Given the description of an element on the screen output the (x, y) to click on. 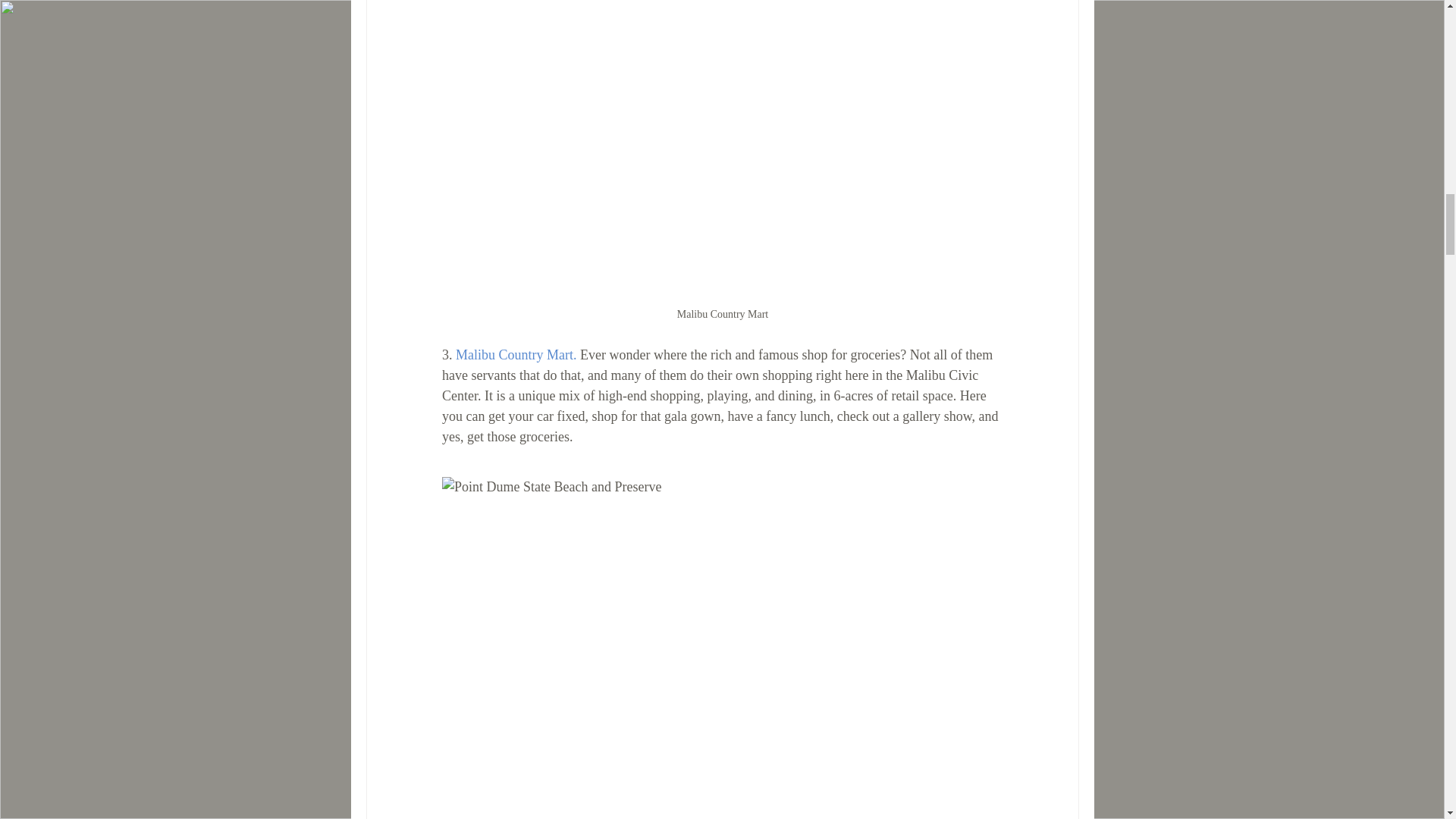
Malibu Country Mart. (515, 354)
